Given the description of an element on the screen output the (x, y) to click on. 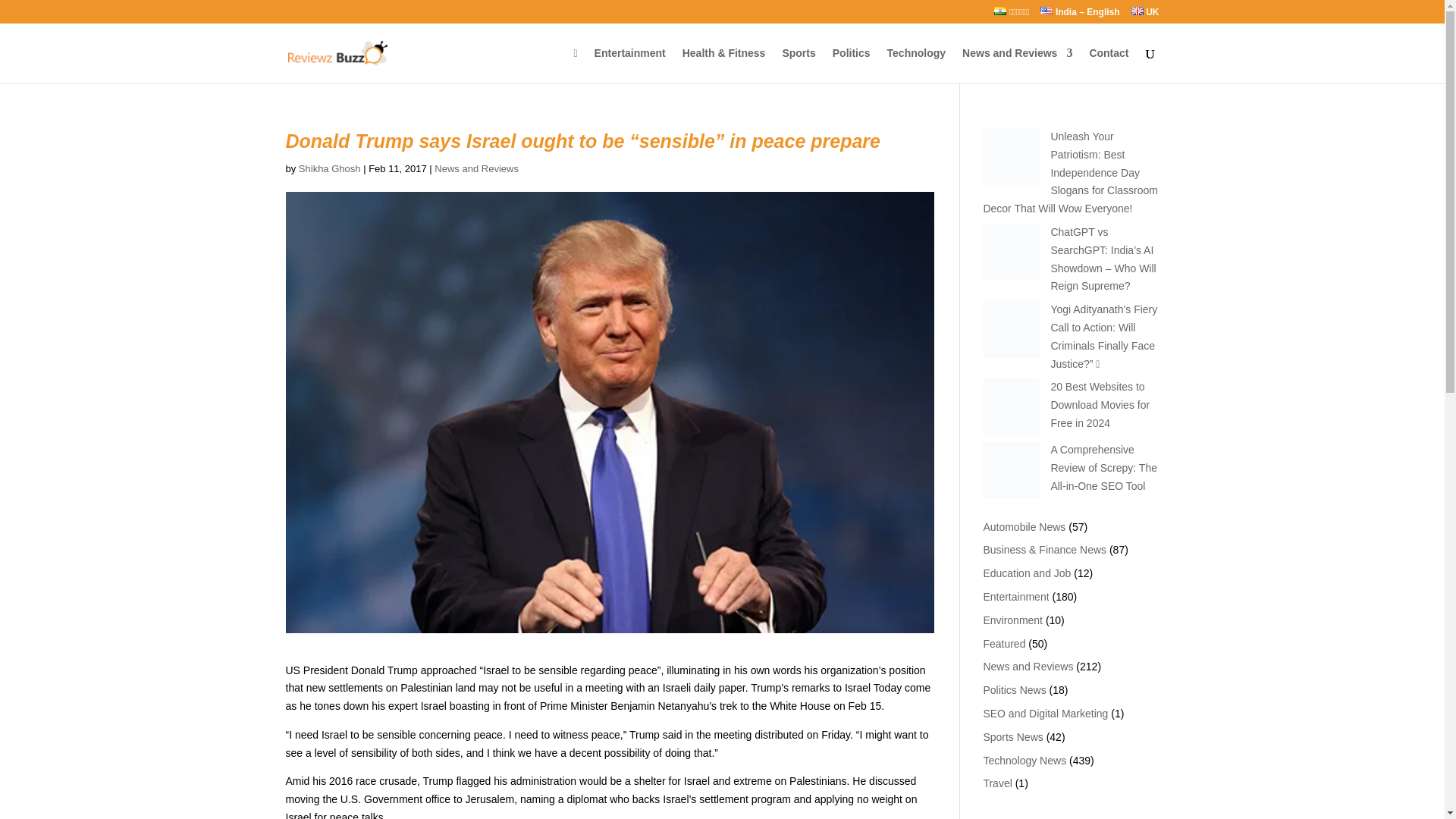
Politics News (1013, 689)
Featured (1003, 644)
Posts by Shikha Ghosh (329, 168)
News and Reviews (1027, 666)
Technology News (1023, 760)
Technology (916, 65)
Entertainment (1015, 596)
UK (1144, 14)
20 Best Websites to Download Movies for Free in 2024 (1099, 404)
